Given the description of an element on the screen output the (x, y) to click on. 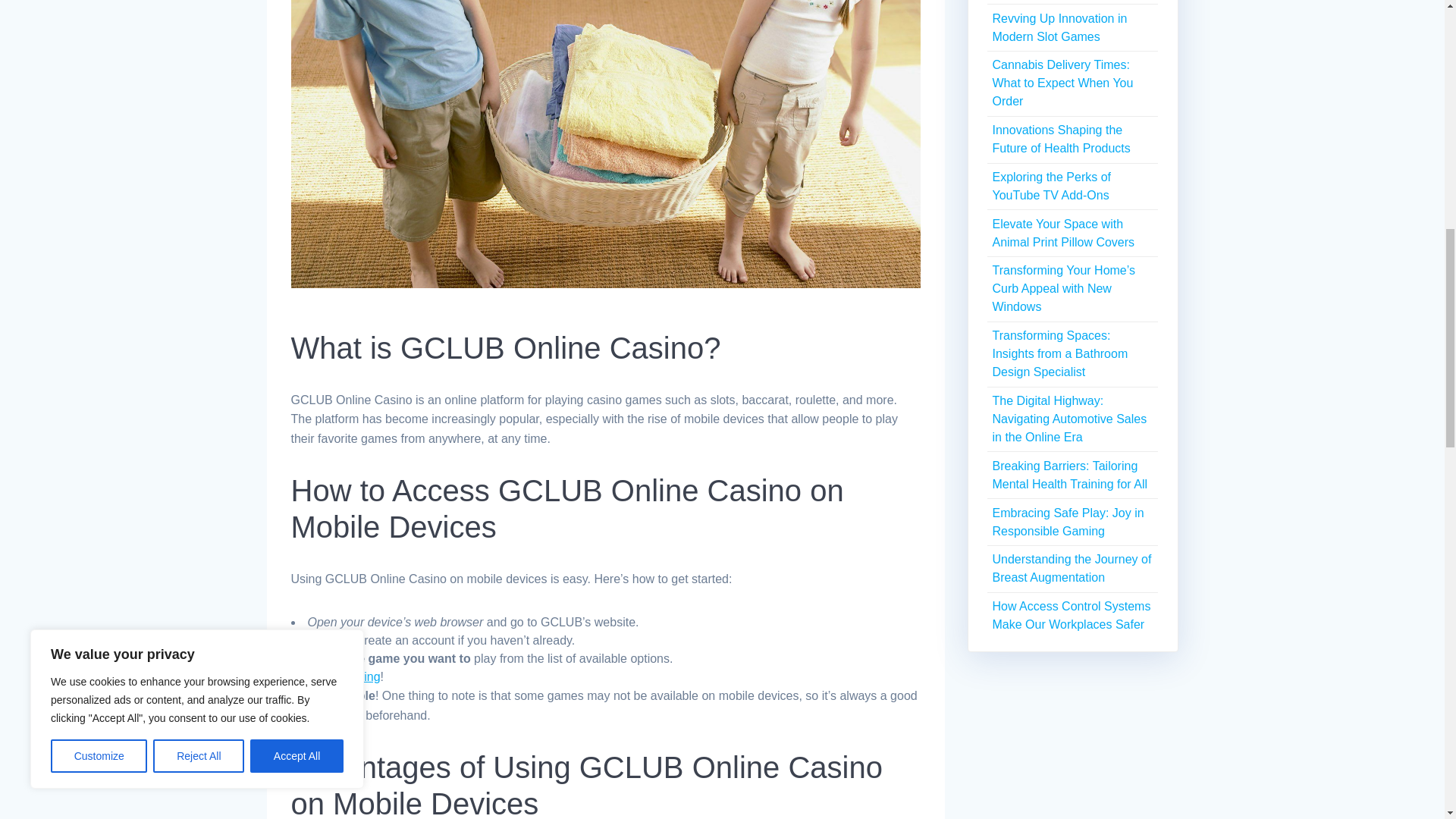
Elevate Your Space with Animal Print Pillow Covers (1062, 232)
Revving Up Innovation in Modern Slot Games (1058, 27)
Exploring the Perks of YouTube TV Add-Ons (1050, 185)
playing (361, 676)
Cannabis Delivery Times: What to Expect When You Order (1061, 82)
Innovations Shaping the Future of Health Products (1060, 138)
